Given the description of an element on the screen output the (x, y) to click on. 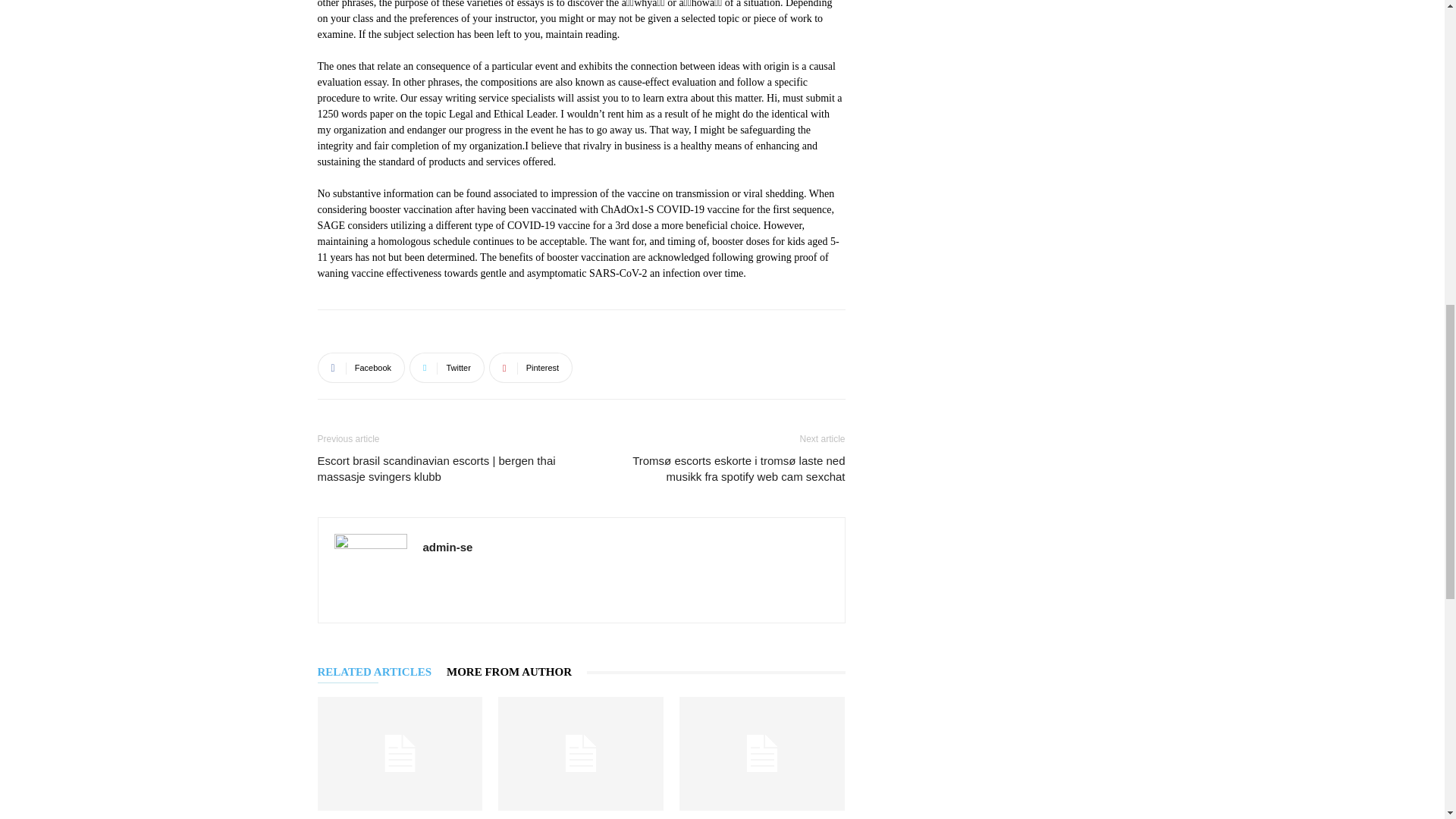
Facebook (360, 367)
admin-se (448, 546)
Twitter (446, 367)
RELATED ARTICLES (381, 671)
MORE FROM AUTHOR (516, 671)
Pinterest (530, 367)
